Given the description of an element on the screen output the (x, y) to click on. 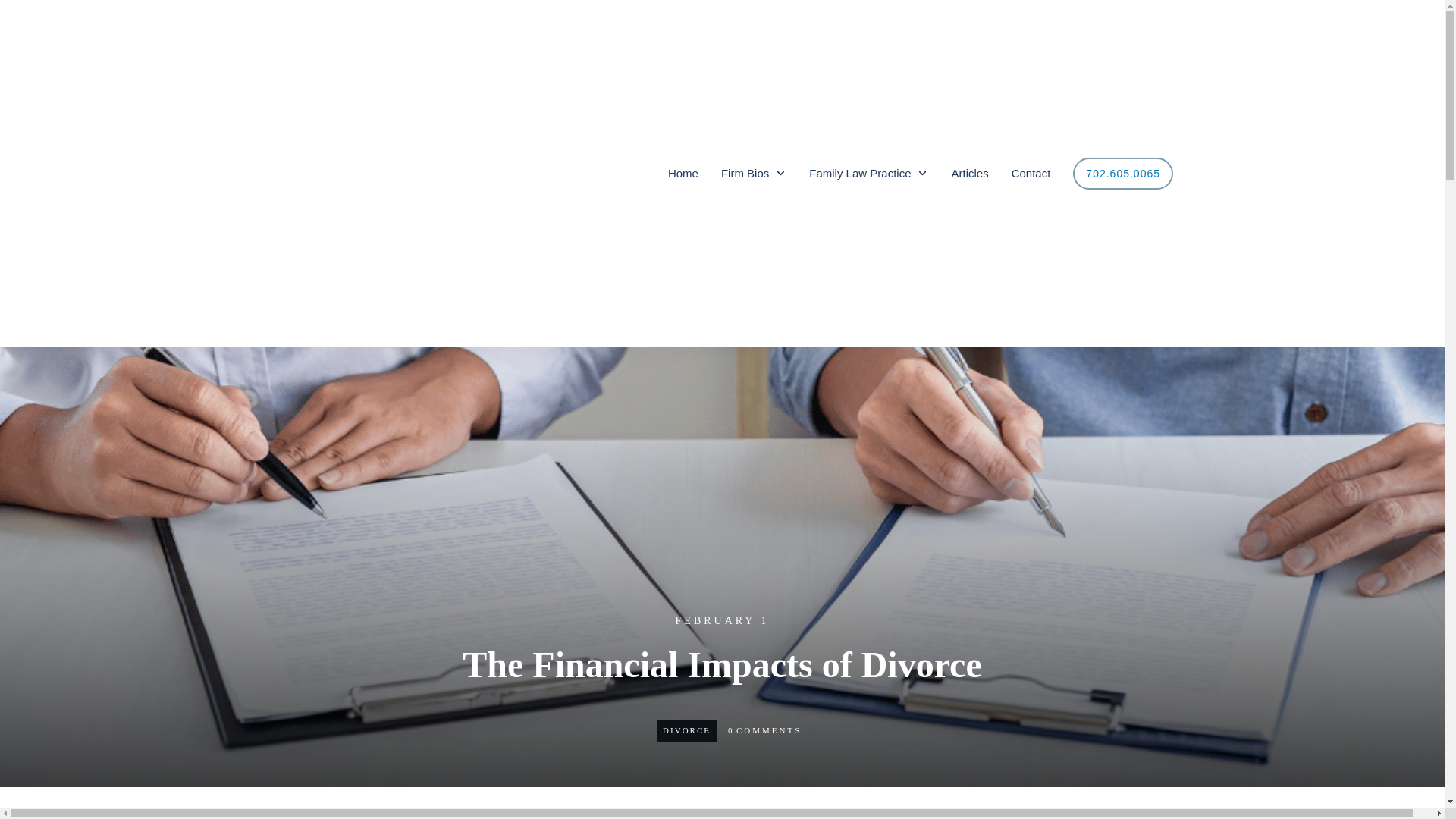
Articles (969, 173)
Home (683, 173)
Contact (1031, 173)
702.605.0065 (1123, 173)
Family Law Practice (868, 173)
Divorce (686, 728)
Firm Bios (753, 173)
DIVORCE (686, 728)
